Given the description of an element on the screen output the (x, y) to click on. 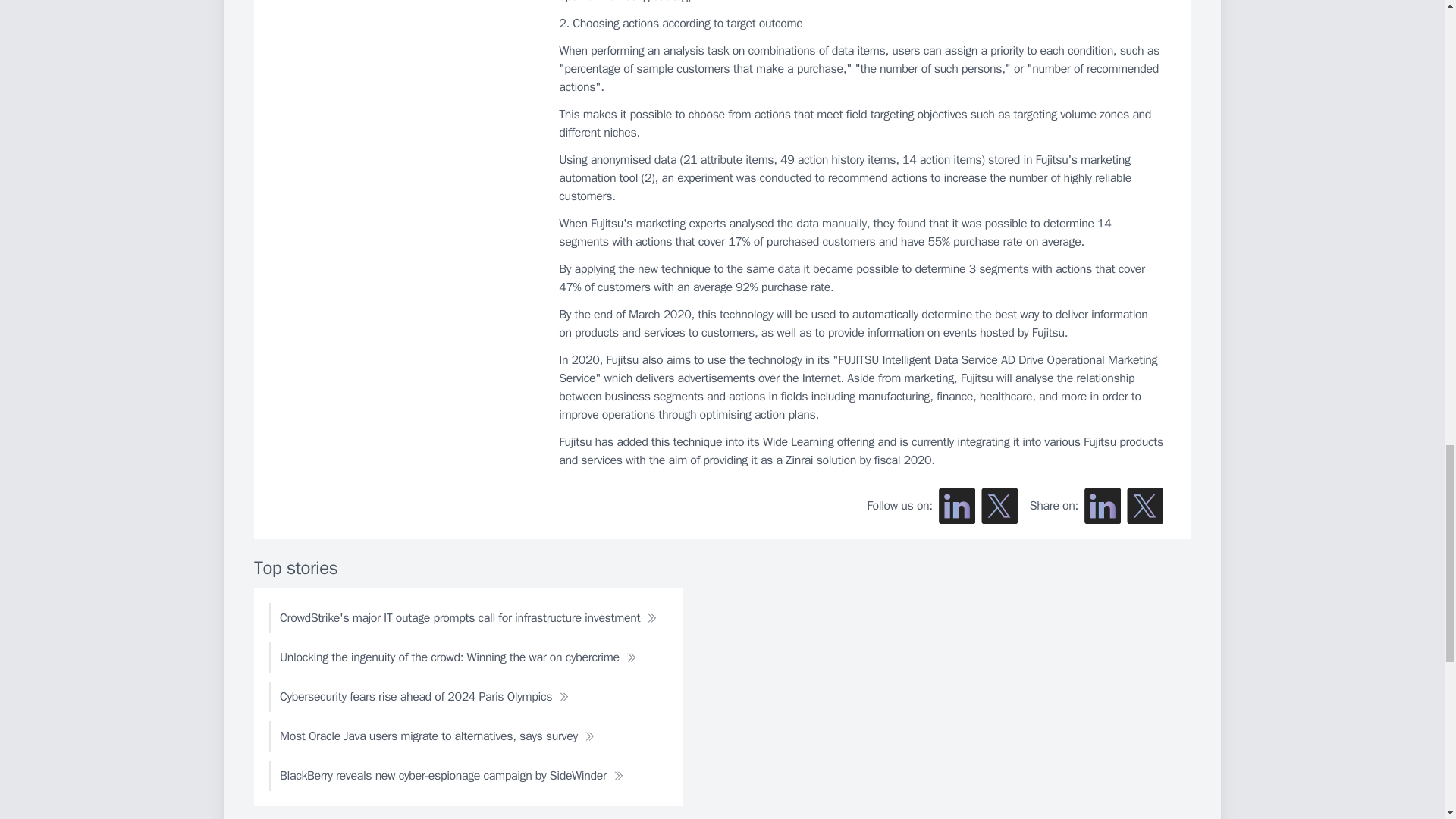
Most Oracle Java users migrate to alternatives, says survey (437, 736)
Cybersecurity fears rise ahead of 2024 Paris Olympics (424, 696)
